Given the description of an element on the screen output the (x, y) to click on. 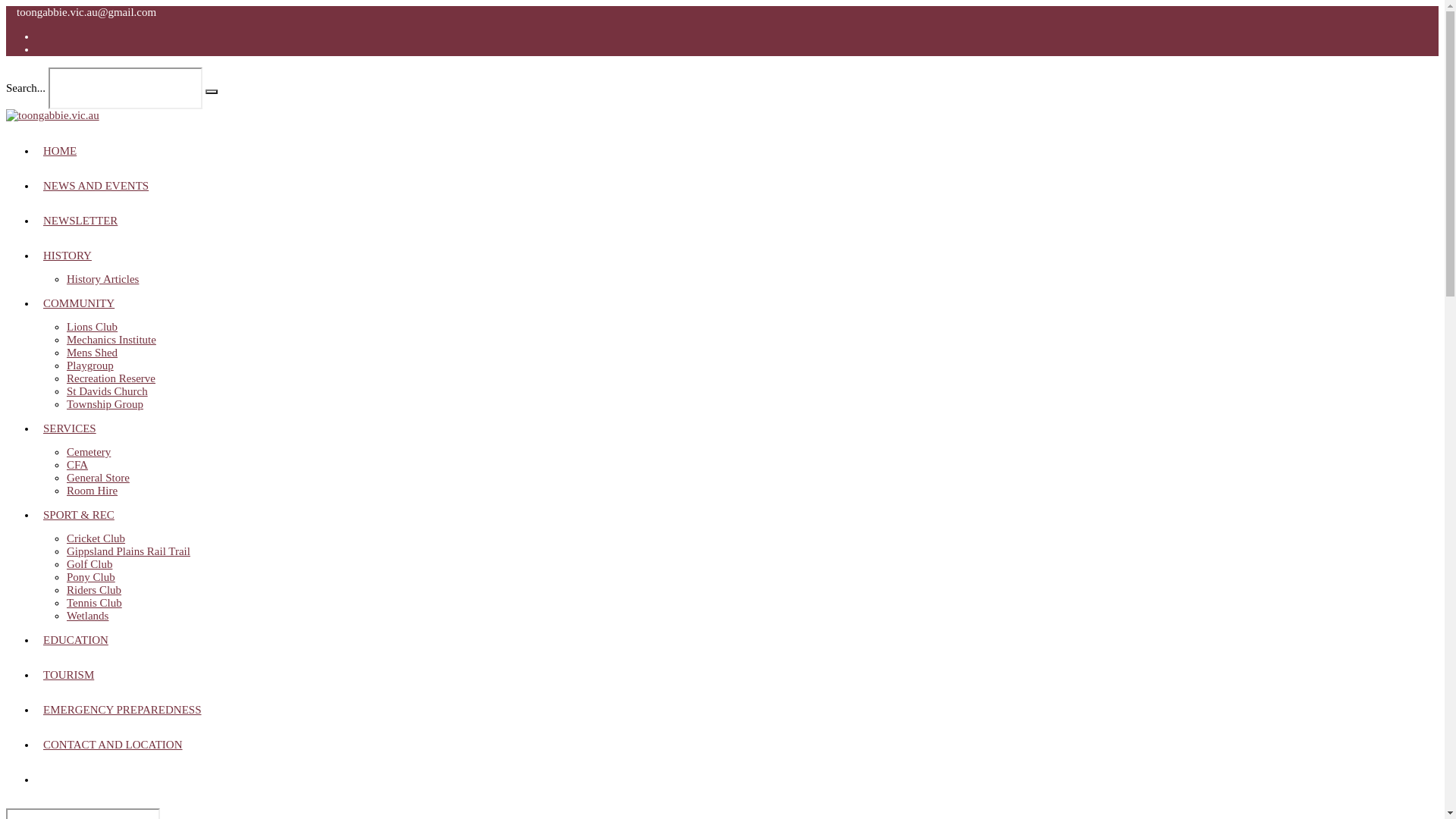
Mechanics Institute Element type: text (111, 339)
Room Hire Element type: text (91, 490)
HISTORY Element type: text (67, 255)
Recreation Reserve Element type: text (110, 378)
NEWSLETTER Element type: text (80, 220)
CFA Element type: text (76, 464)
NEWS AND EVENTS Element type: text (95, 185)
Cemetery Element type: text (88, 451)
TOURISM Element type: text (68, 674)
Township Group Element type: text (104, 404)
General Store Element type: text (97, 477)
Cricket Club Element type: text (95, 538)
Lions Club Element type: text (91, 326)
St Davids Church Element type: text (106, 391)
EDUCATION Element type: text (75, 639)
Gippsland Plains Rail Trail Element type: text (128, 551)
EMERGENCY PREPAREDNESS Element type: text (122, 709)
Riders Club Element type: text (93, 589)
History Articles Element type: text (102, 279)
HOME Element type: text (59, 150)
Mens Shed Element type: text (91, 352)
SERVICES Element type: text (69, 428)
Pony Club Element type: text (90, 577)
Submit search Element type: text (211, 91)
Skip to content Element type: text (5, 5)
Golf Club Element type: text (89, 564)
TOGGLE WEBSITE SEARCH Element type: text (43, 779)
Tennis Club Element type: text (94, 602)
COMMUNITY Element type: text (78, 303)
SPORT & REC Element type: text (78, 514)
Wetlands Element type: text (87, 615)
Playgroup Element type: text (89, 365)
CONTACT AND LOCATION Element type: text (112, 744)
